Given the description of an element on the screen output the (x, y) to click on. 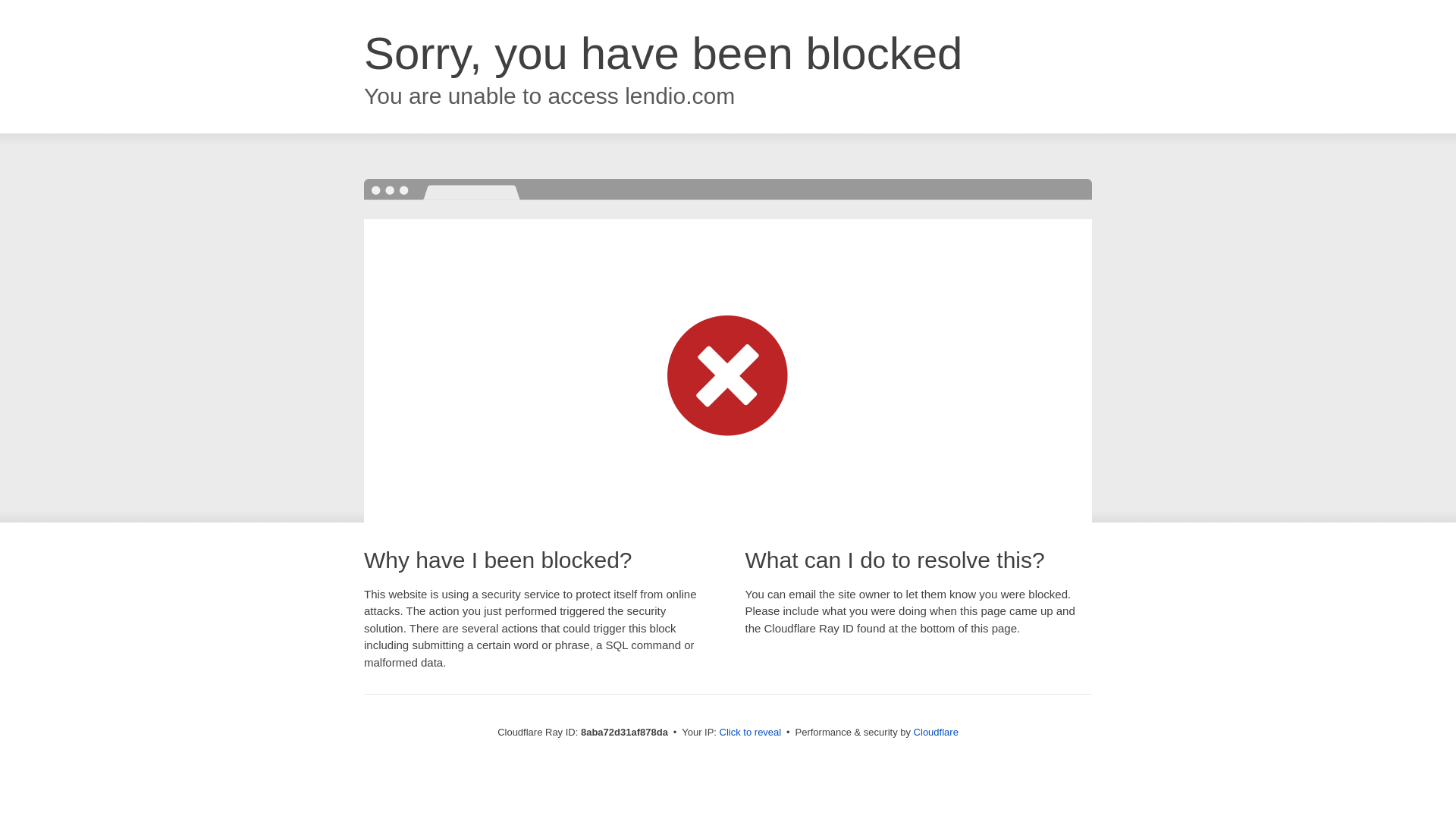
Cloudflare (936, 731)
Click to reveal (750, 732)
